Given the description of an element on the screen output the (x, y) to click on. 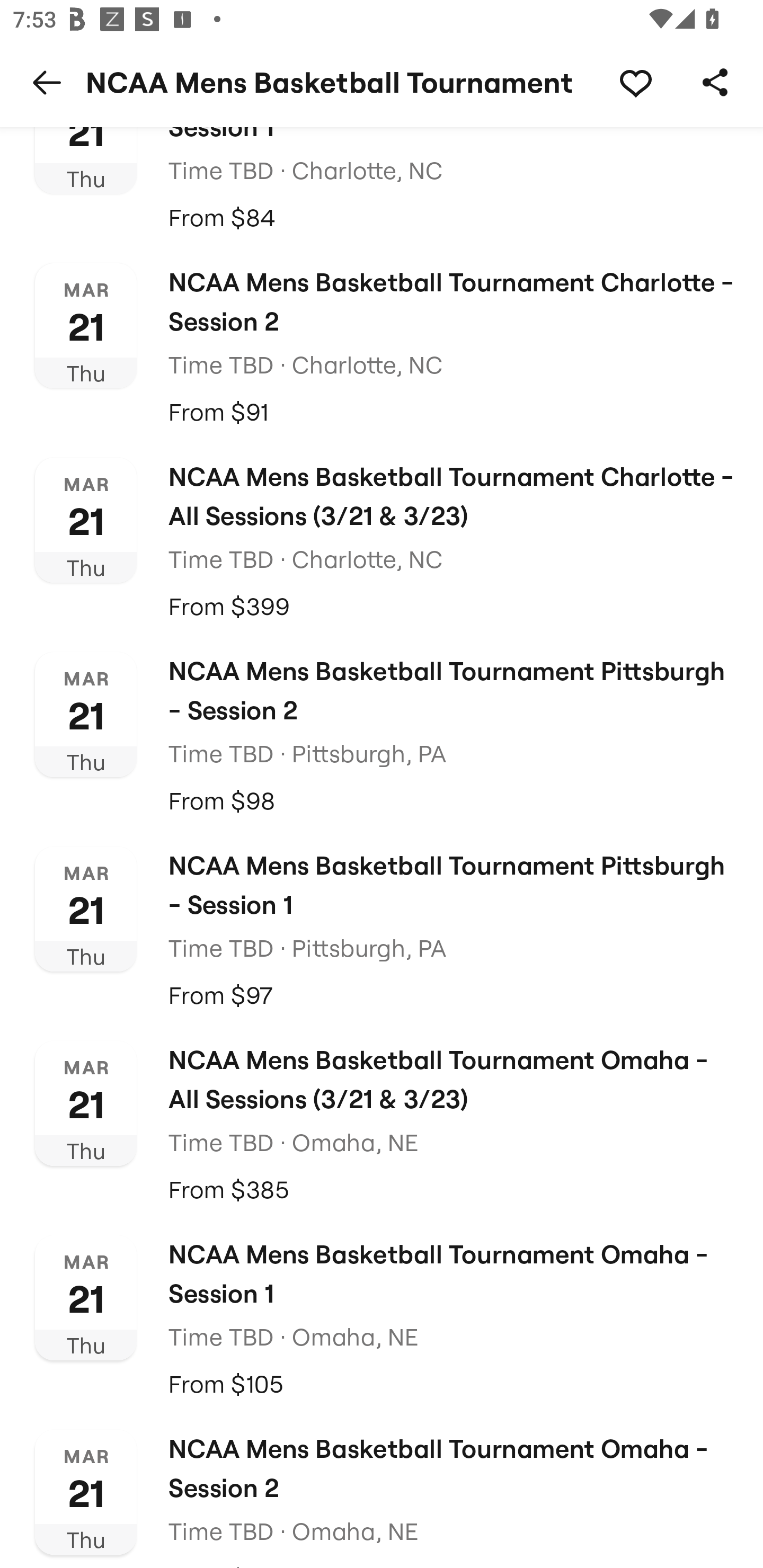
Back (47, 81)
Track this performer (635, 81)
Share this performer (715, 81)
